Given the description of an element on the screen output the (x, y) to click on. 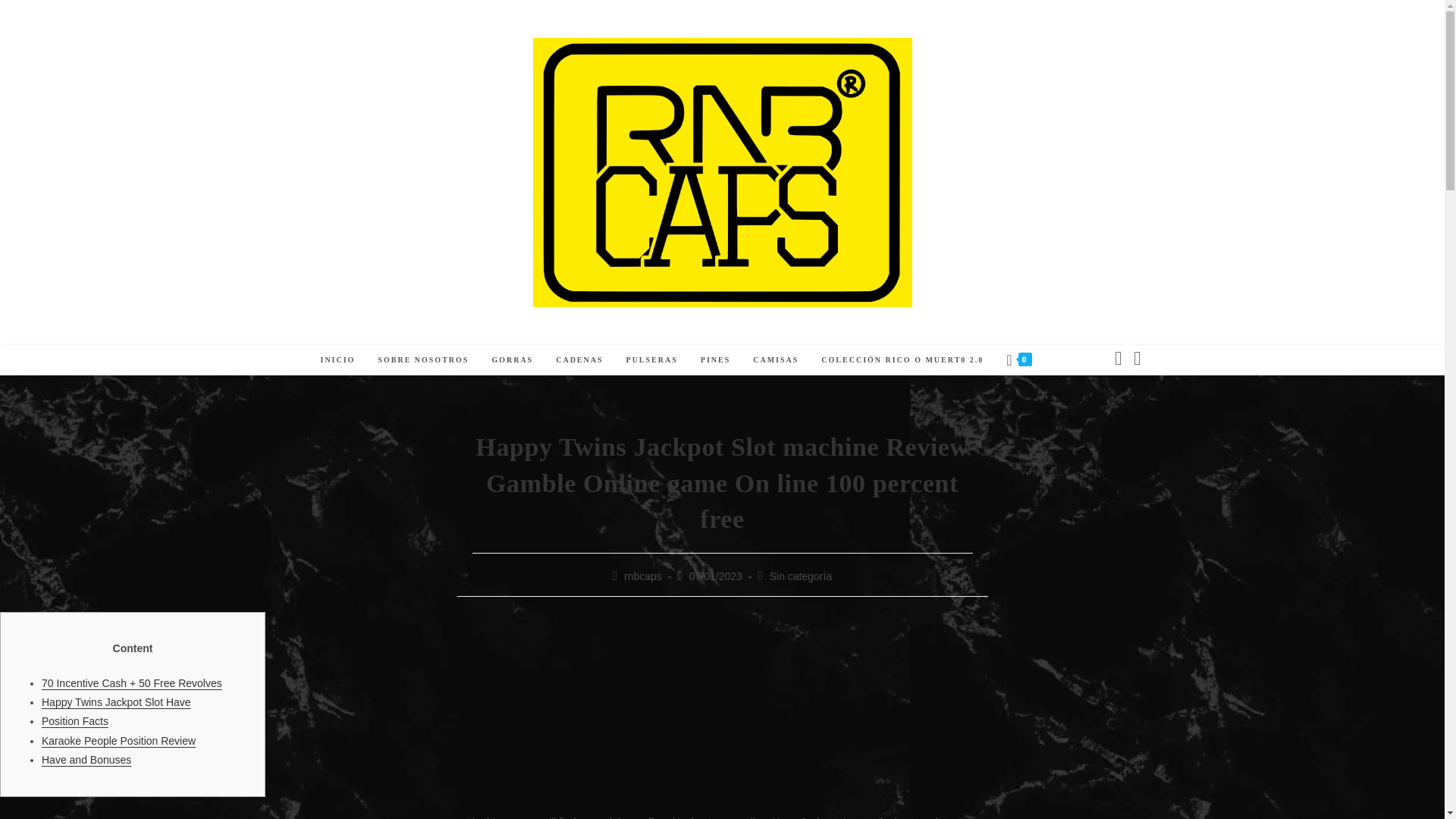
Entradas de rnbcaps (643, 576)
PINES (714, 359)
CAMISAS (775, 359)
SOBRE NOSOTROS (423, 359)
CADENAS (579, 359)
0 (1018, 359)
Have and Bonuses (86, 759)
Happy Twins Jackpot Slot Have (116, 702)
INICIO (337, 359)
Position Facts (74, 720)
Karaoke People Position Review (118, 740)
rnbcaps (643, 576)
PULSERAS (651, 359)
GORRAS (512, 359)
